Given the description of an element on the screen output the (x, y) to click on. 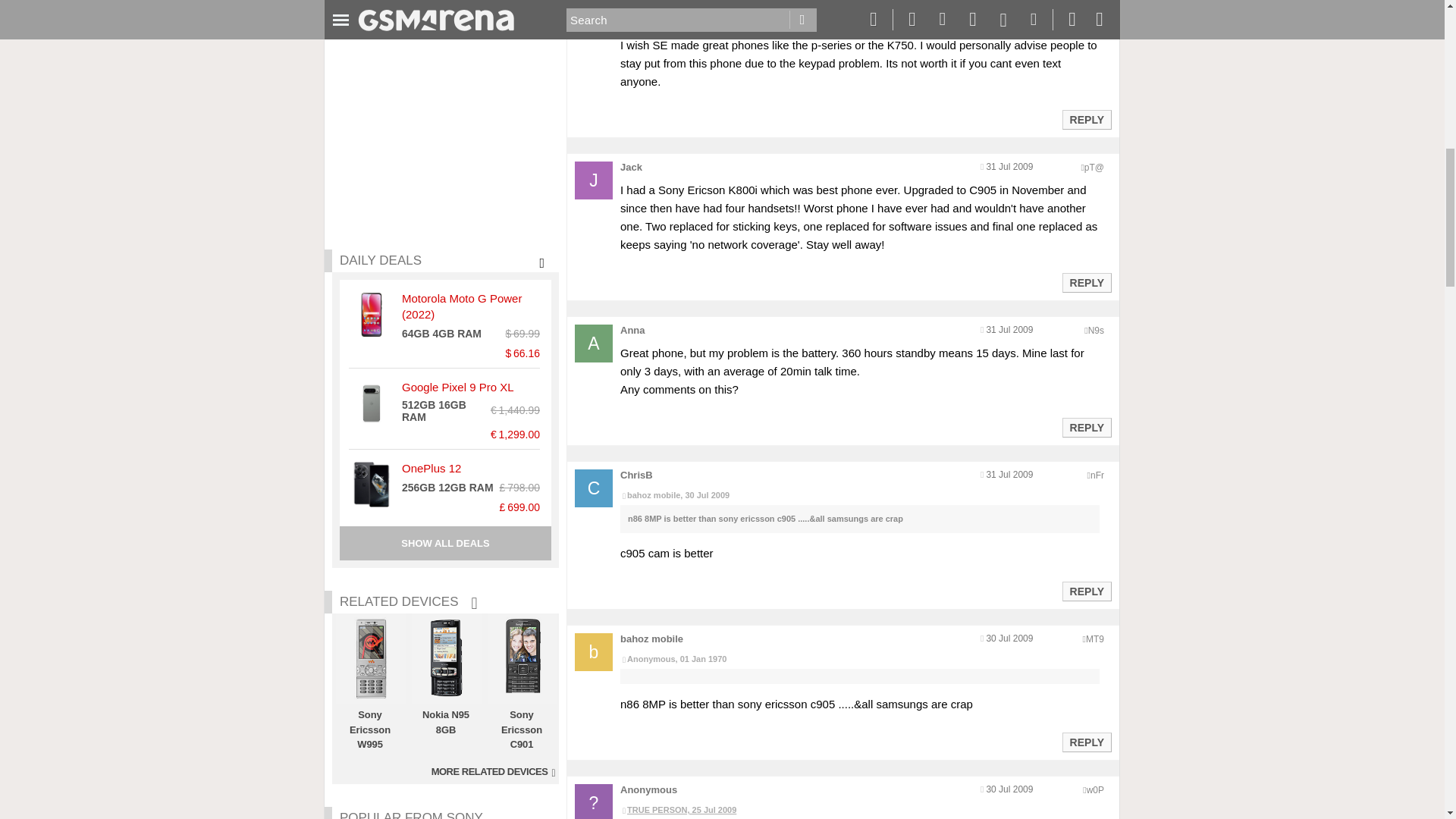
Reply to this post (1086, 742)
Reply to this post (1086, 282)
Reply to this post (1086, 119)
Encoded anonymized location (1094, 789)
Encoded anonymized location (1096, 475)
Reply to this post (1086, 591)
Reply to this post (1086, 427)
Encoded anonymized location (1093, 167)
Encoded anonymized location (1095, 330)
Encoded anonymized location (1094, 638)
